Given the description of an element on the screen output the (x, y) to click on. 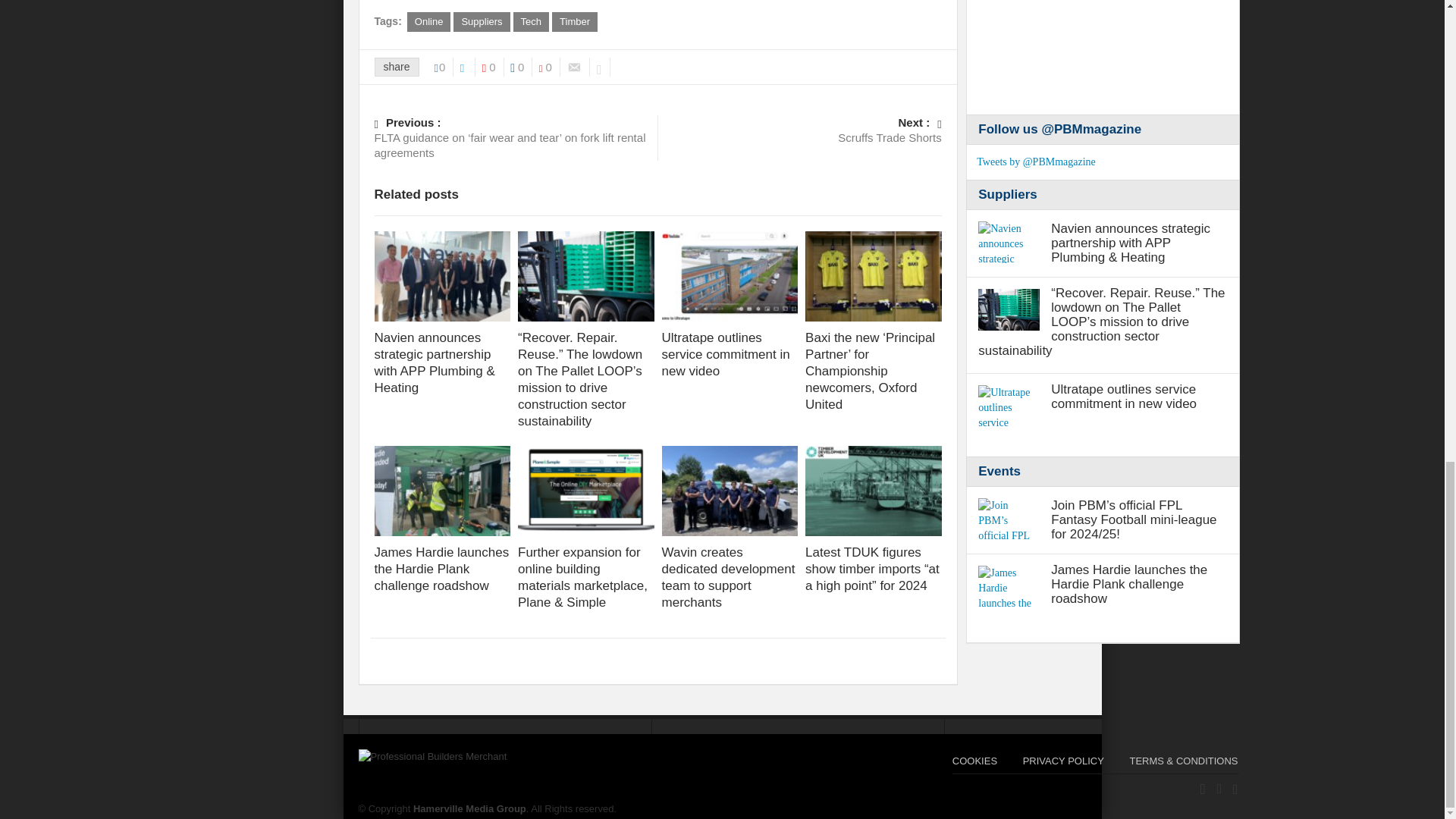
0 (443, 66)
0 (521, 66)
Suppliers (480, 21)
Tech (530, 21)
Timber (573, 21)
Online (429, 21)
0 (549, 66)
0 (492, 66)
